Given the description of an element on the screen output the (x, y) to click on. 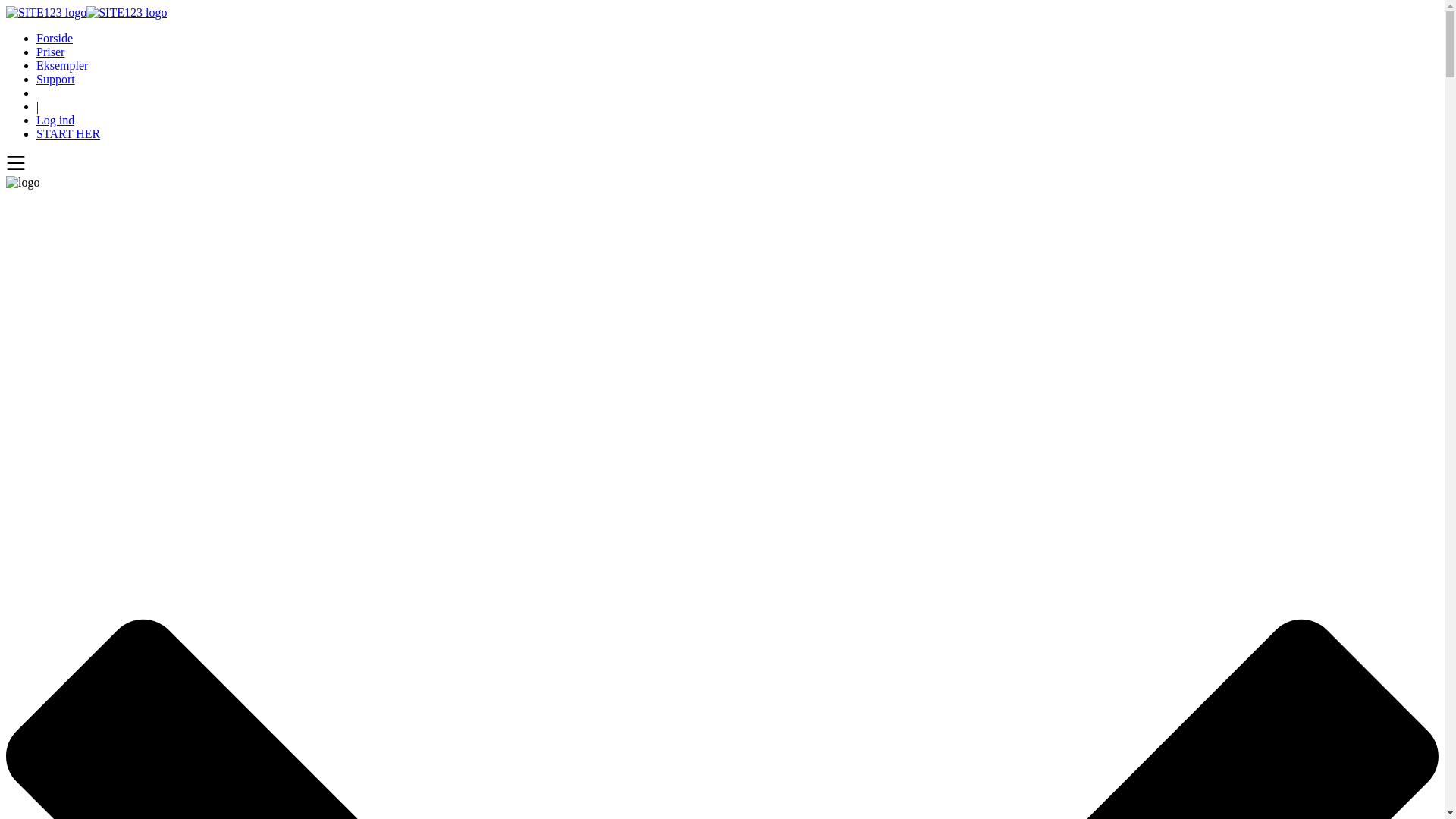
Log ind (55, 119)
Forside (54, 38)
Eksempler (61, 65)
START HER (68, 133)
Priser (50, 51)
Support (55, 78)
